Given the description of an element on the screen output the (x, y) to click on. 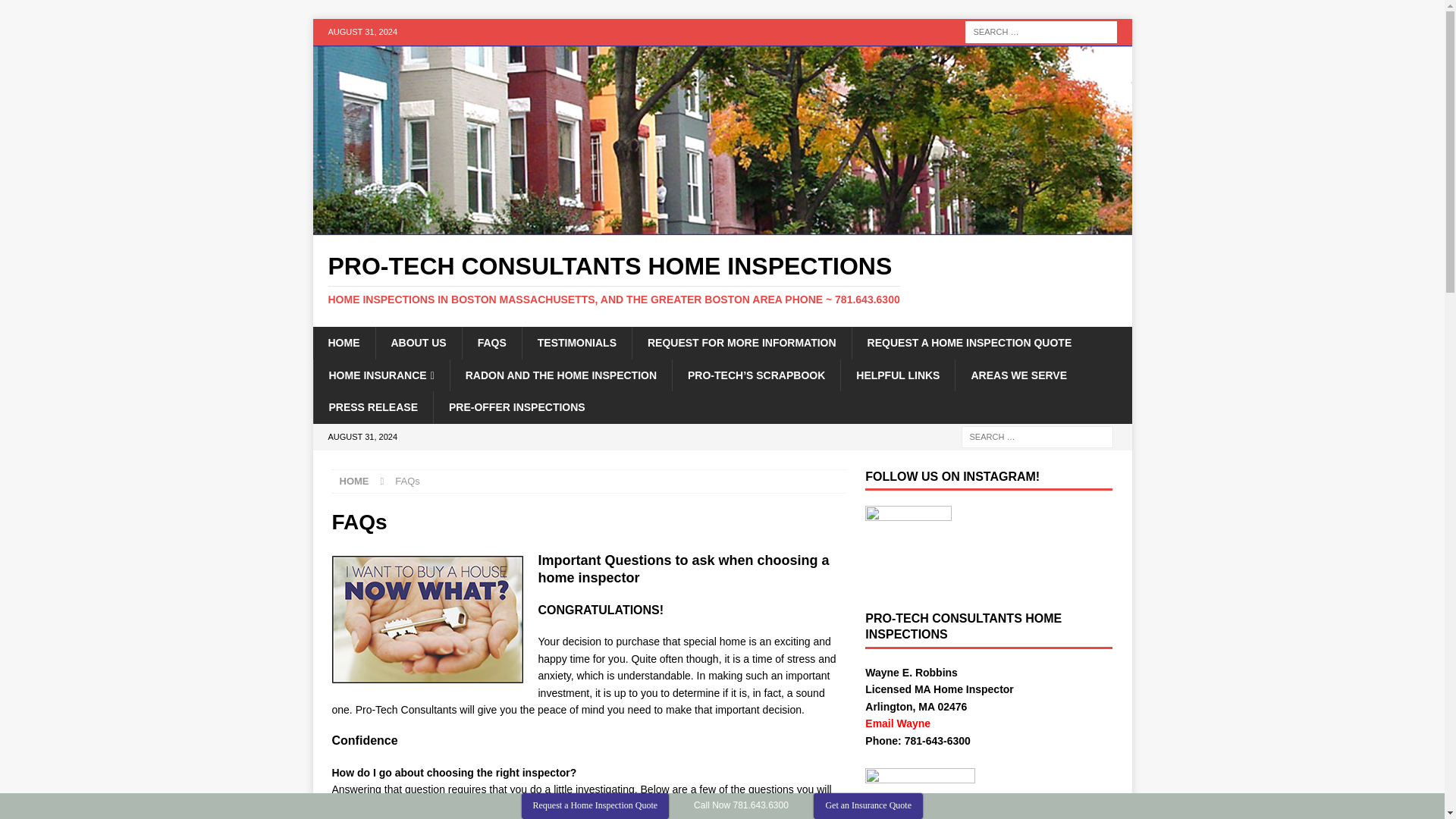
REQUEST A HOME INSPECTION QUOTE (969, 342)
HELPFUL LINKS (897, 375)
Pro-Tech Consultants Home Inspections (722, 226)
HOME (354, 480)
PRE-OFFER INSPECTIONS (515, 407)
RADON AND THE HOME INSPECTION (560, 375)
AREAS WE SERVE (1018, 375)
Search (56, 11)
REQUEST FOR MORE INFORMATION (741, 342)
Email Wayne (897, 723)
